Given the description of an element on the screen output the (x, y) to click on. 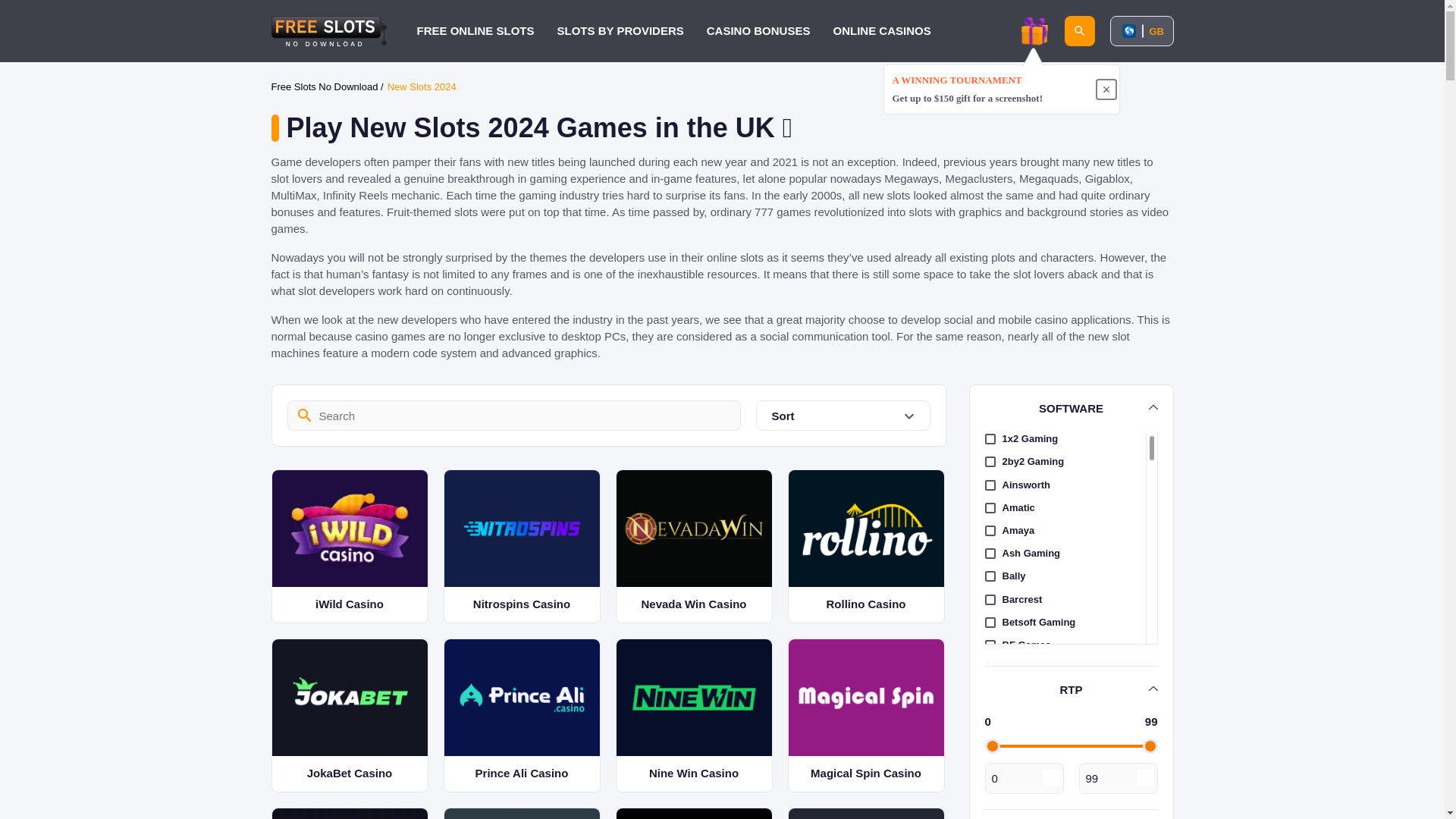
CryptoLeo Casino (349, 813)
cryptoleo-casino-logo (348, 813)
SLOTS BY PROVIDERS (620, 30)
JokaBet Casino (349, 715)
nitrospins-casino-logo (521, 528)
Nitrospins Casino (520, 546)
Vave Casino (521, 813)
Rollino Casino (865, 546)
prince-ali-casino-review (521, 697)
